Given the description of an element on the screen output the (x, y) to click on. 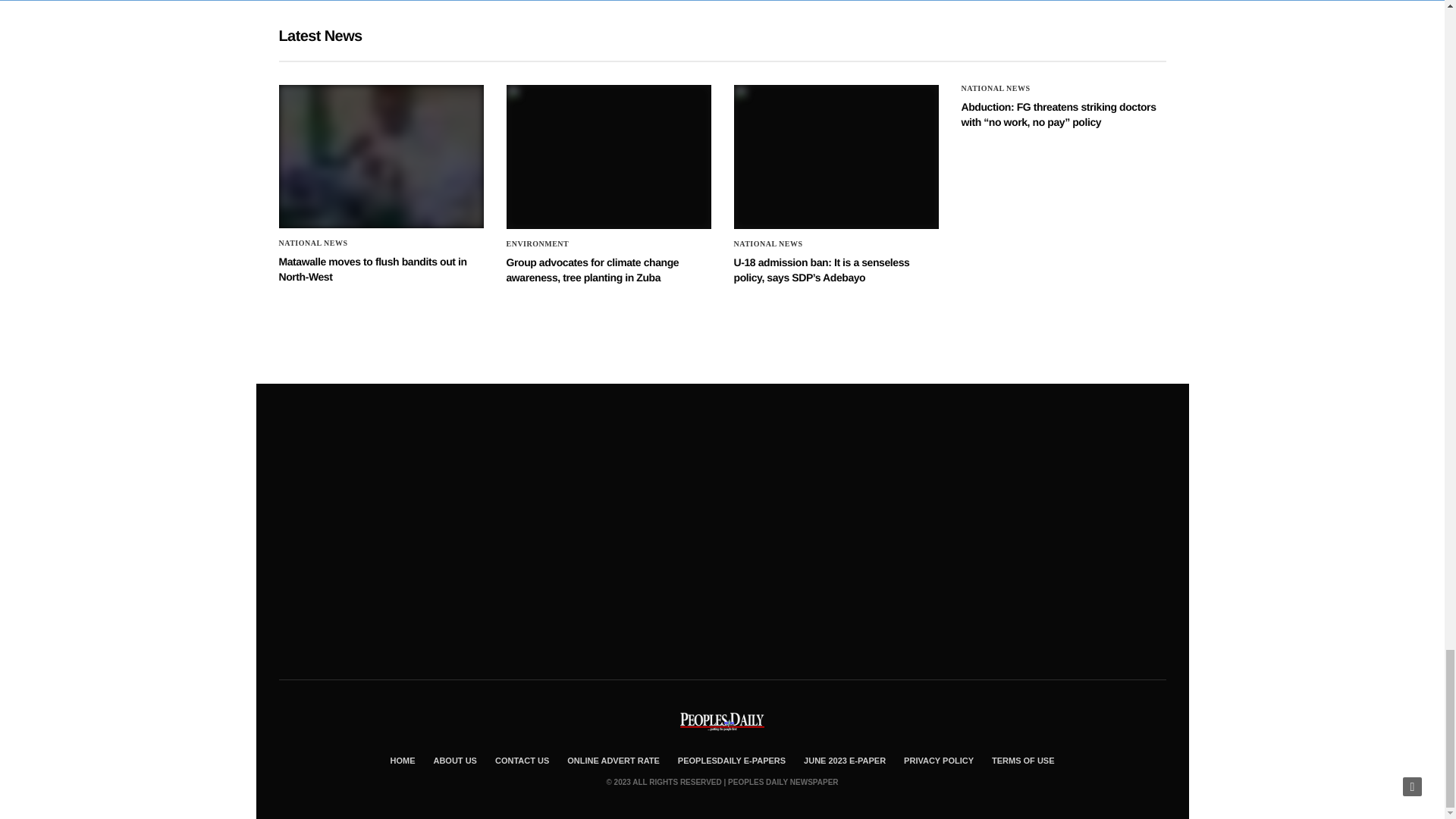
National News (995, 88)
Matawalle moves to flush bandits out in North-West (381, 156)
Environment (537, 244)
Matawalle moves to flush bandits out in North-West (373, 268)
National News (313, 243)
National News (768, 244)
